Given the description of an element on the screen output the (x, y) to click on. 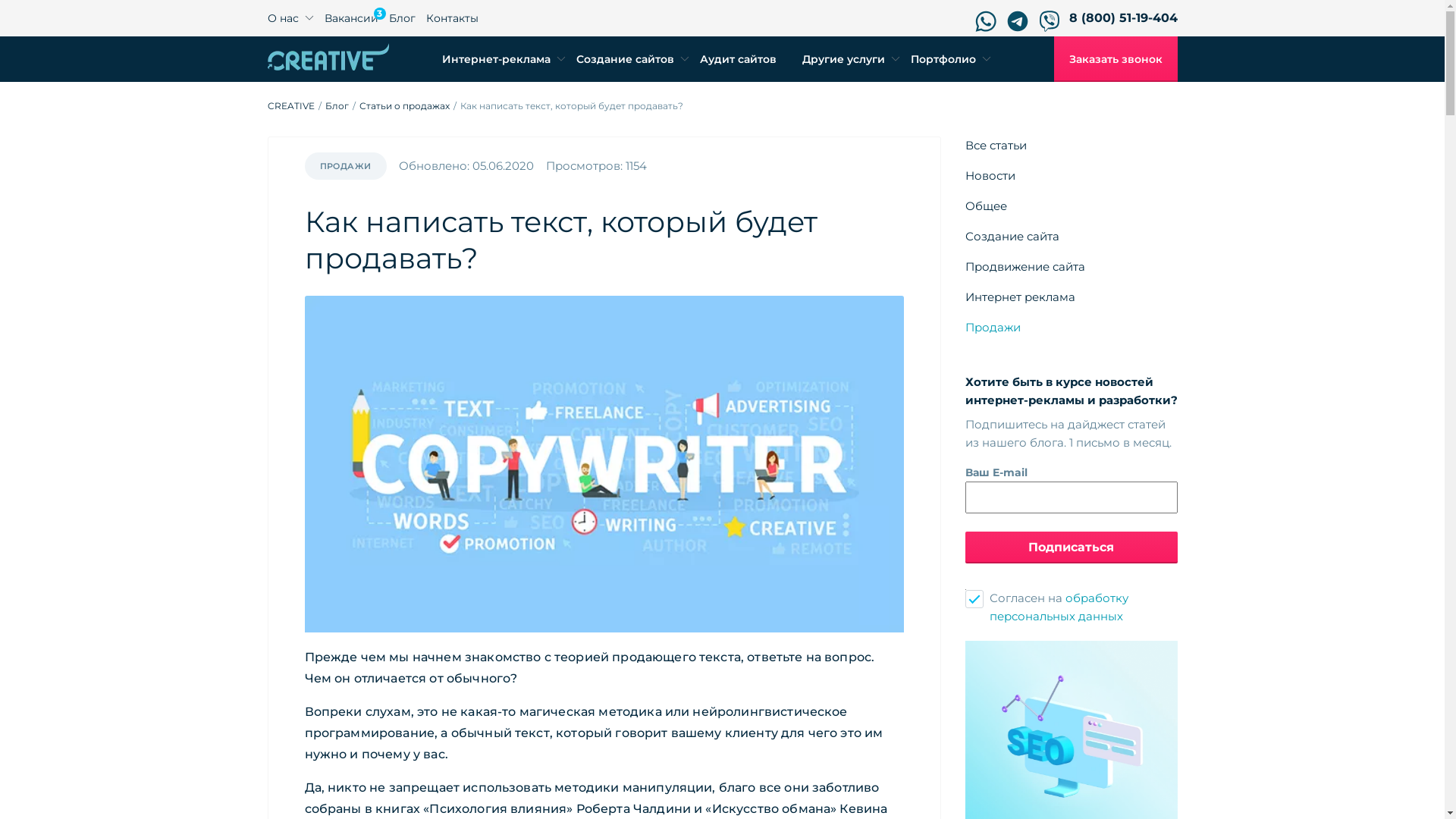
8 (800) 51-19-404 Element type: text (1123, 17)
CREATIVE Element type: text (289, 106)
